Given the description of an element on the screen output the (x, y) to click on. 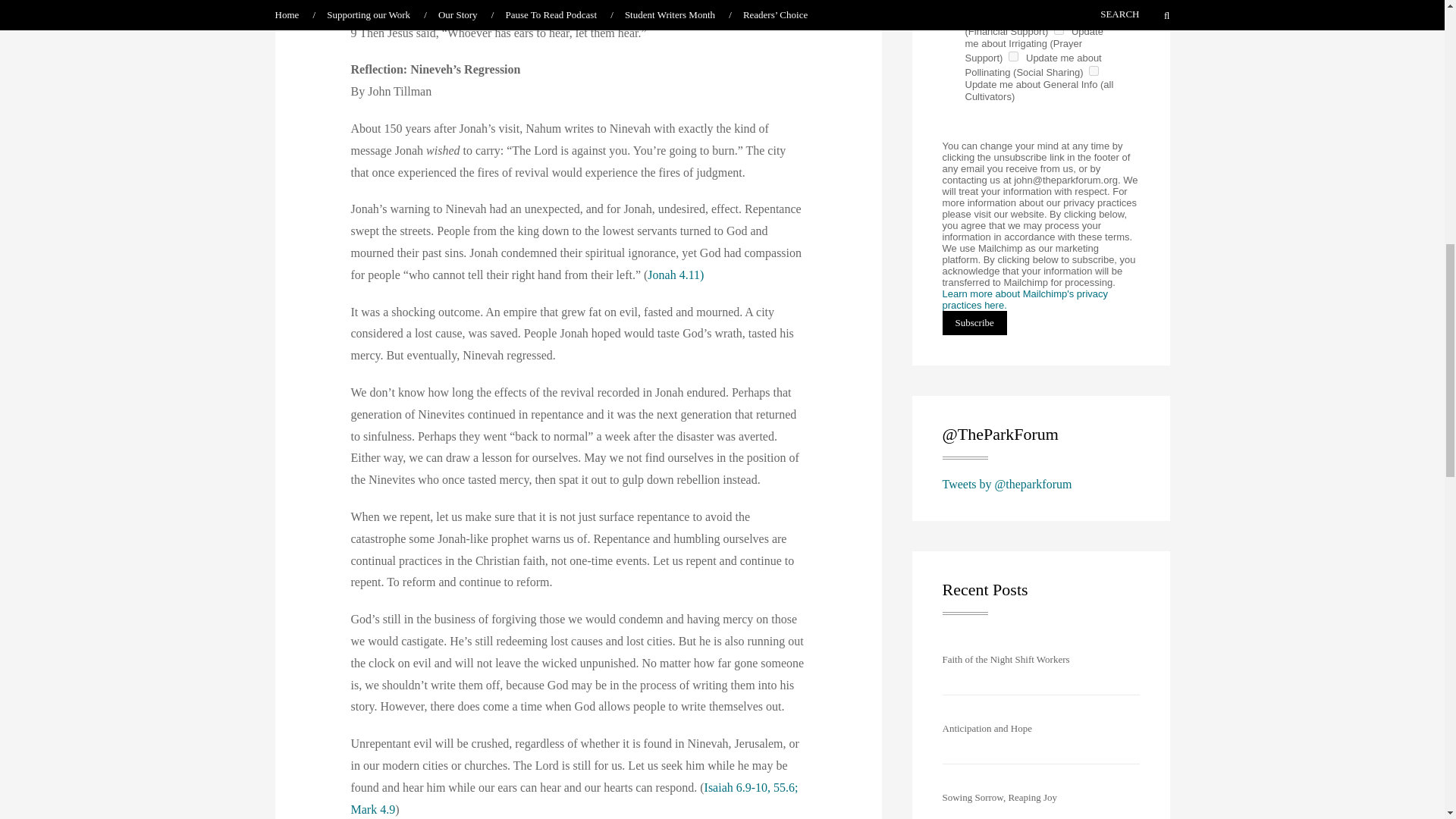
Sowing Sorrow, Reaping Joy (999, 797)
Subscribe (974, 322)
Learn more about Mailchimp's privacy practices here. (1025, 299)
Isaiah 6.9-10, 55.6; Mark 4.9 (573, 798)
Y (1094, 71)
Y (1013, 56)
Subscribe (974, 322)
Anticipation and Hope (986, 727)
Y (1059, 30)
Y (972, 15)
Faith of the Night Shift Workers (1005, 659)
